Given the description of an element on the screen output the (x, y) to click on. 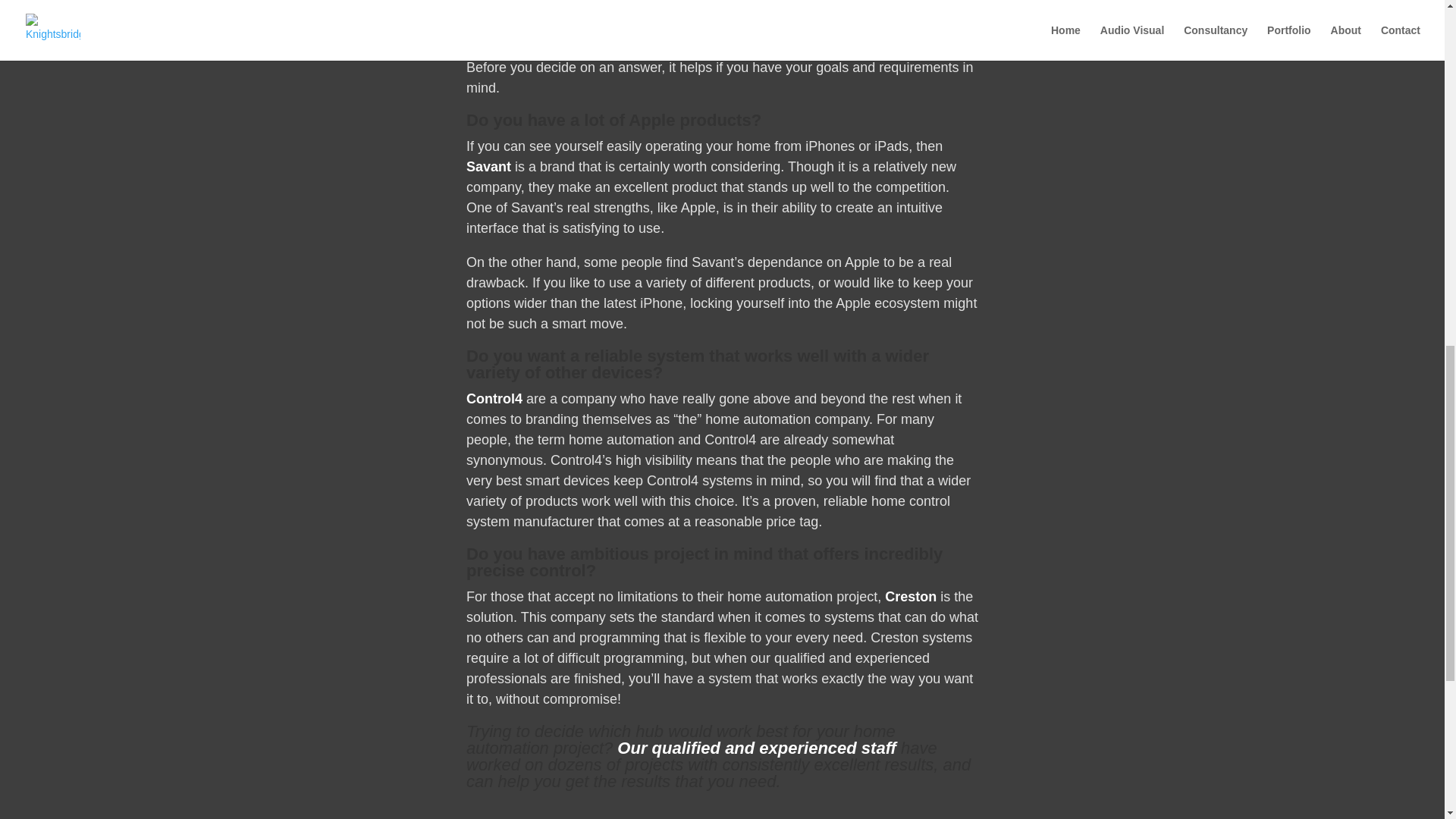
Contact (756, 747)
Our qualified and experienced staff (756, 747)
Control4 (493, 398)
Savant (488, 166)
Creston (910, 596)
